Given the description of an element on the screen output the (x, y) to click on. 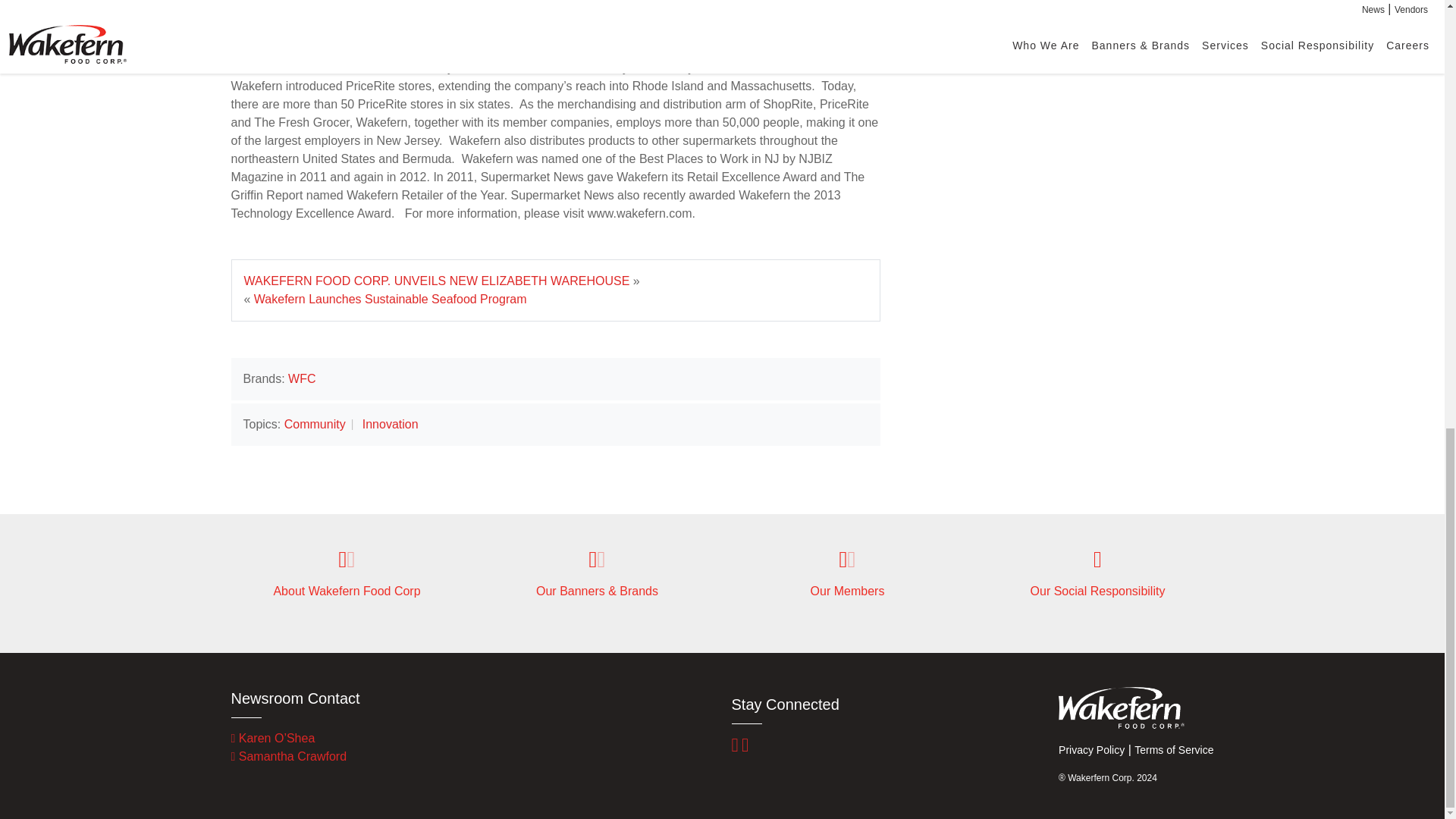
Our Social Responsibility (1096, 573)
Wakefern Launches Sustainable Seafood Program (390, 298)
About Wakefern Food Corp (346, 573)
Samantha Crawford (288, 756)
Privacy Policy (1091, 749)
WFC (301, 378)
WAKEFERN FOOD CORP. UNVEILS NEW ELIZABETH WAREHOUSE (437, 280)
Community (314, 423)
Our Members (846, 573)
Innovation (390, 423)
